Given the description of an element on the screen output the (x, y) to click on. 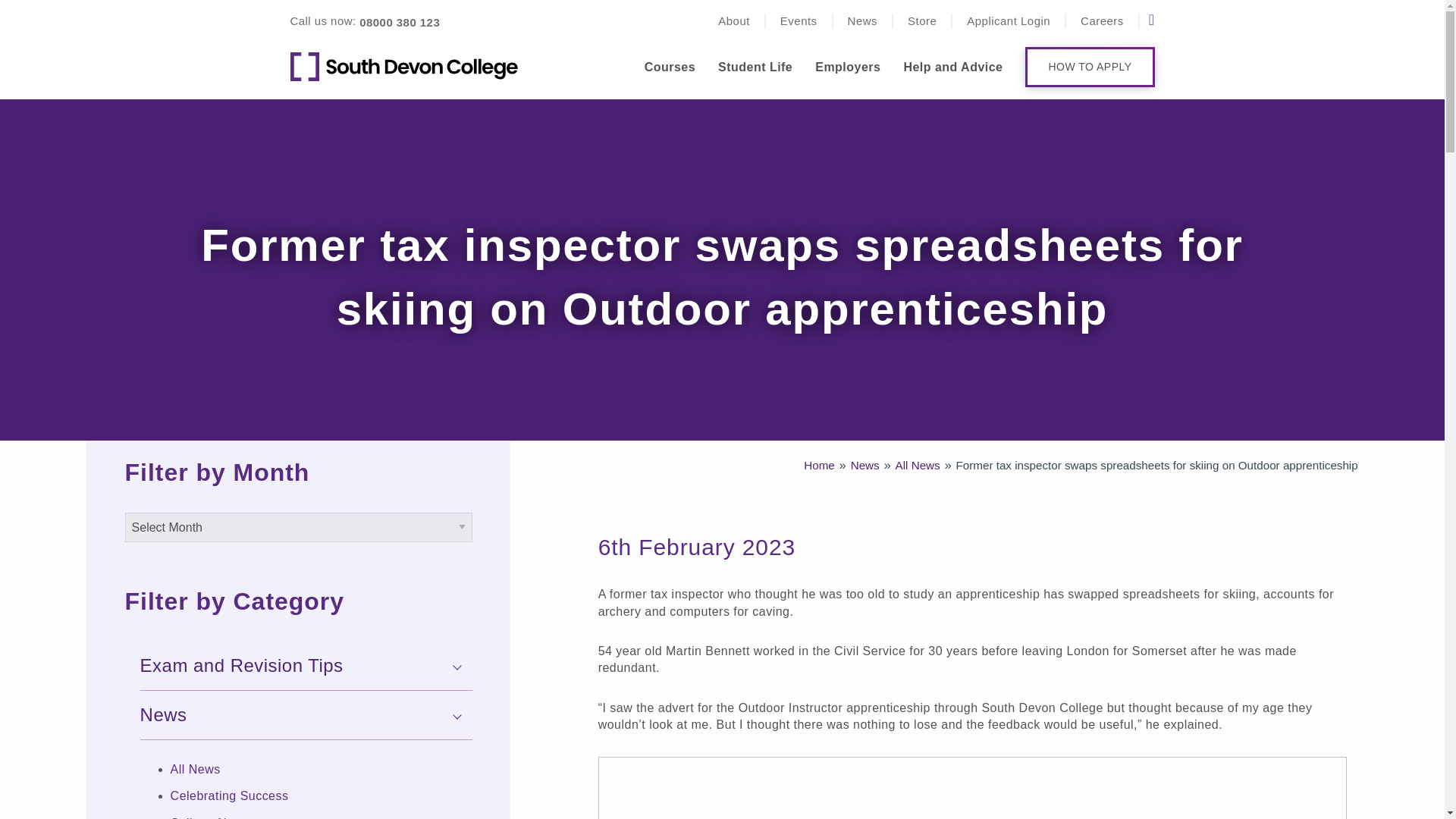
Employers (847, 66)
About (733, 21)
08000 380 123 (399, 22)
Help and Advice (952, 66)
Student Life (754, 66)
Courses (670, 66)
Careers (1102, 21)
Events (798, 21)
Applicant Login (1007, 21)
Store (921, 21)
